Given the description of an element on the screen output the (x, y) to click on. 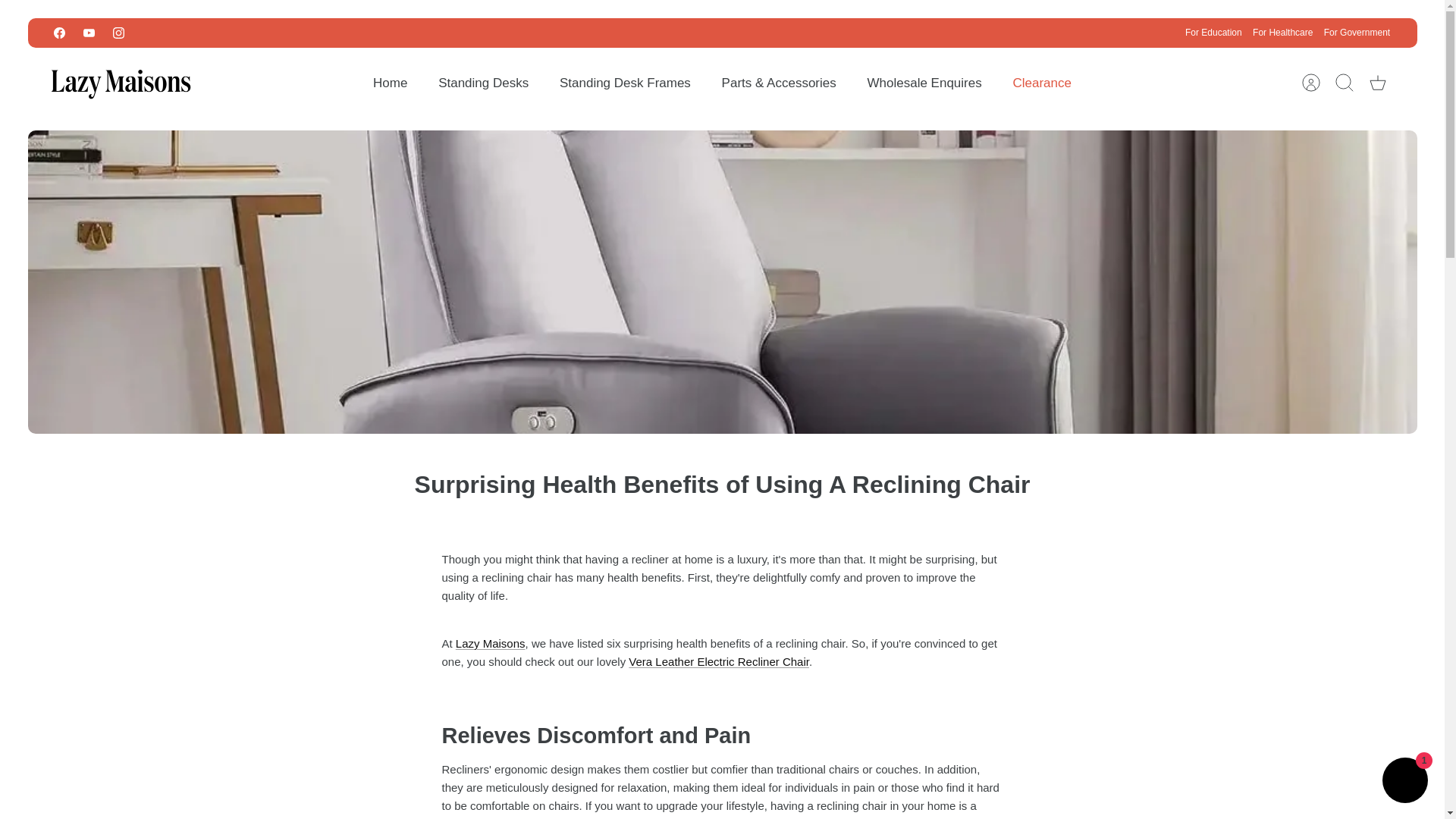
Youtube (88, 32)
electric recliner chair (718, 661)
Home (389, 82)
Standing Desk Frames (625, 82)
Standing Desks (483, 82)
Shopify online store chat (1404, 781)
For Education (1213, 32)
Instagram (117, 32)
Instagram (117, 32)
For Government (1356, 32)
For Healthcare (1282, 32)
Youtube (88, 32)
